Given the description of an element on the screen output the (x, y) to click on. 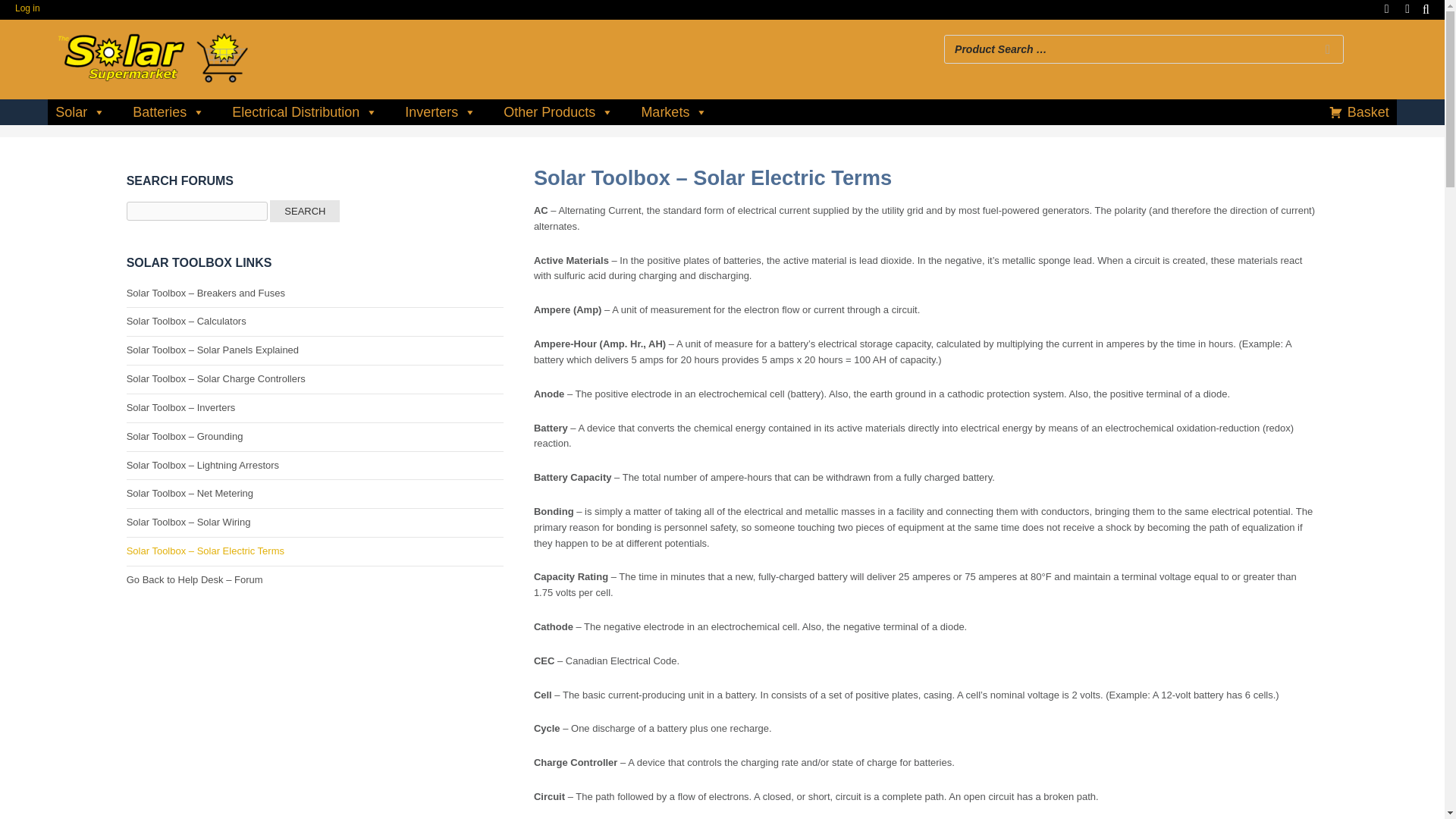
Electrical Distribution (304, 111)
facebook (1386, 7)
Solar (80, 111)
Search (304, 210)
Search (972, 6)
Log in (27, 8)
Batteries (168, 111)
Inverters (440, 111)
Other Products (558, 111)
Basket (1406, 7)
